Given the description of an element on the screen output the (x, y) to click on. 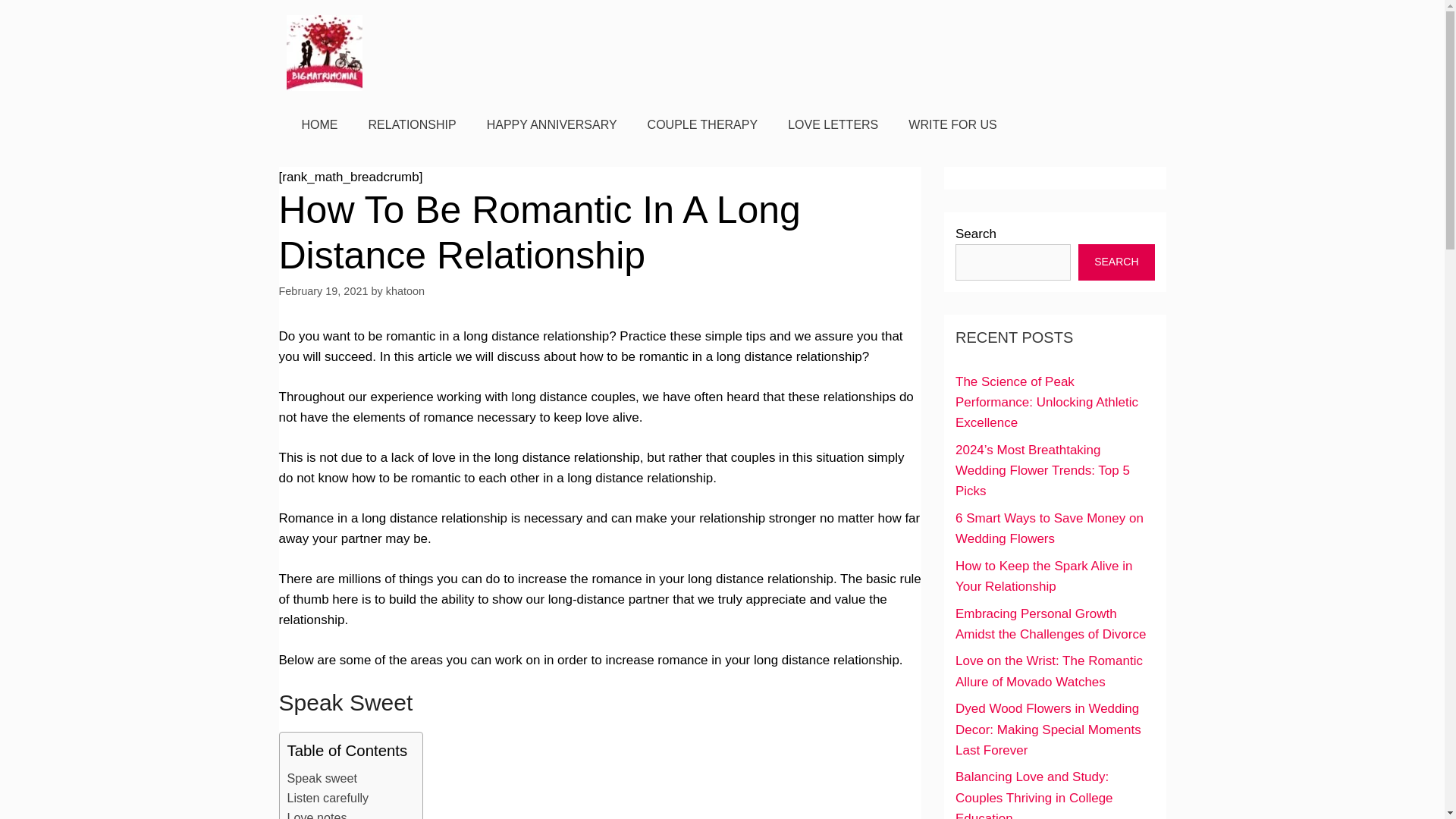
WRITE FOR US (952, 125)
RELATIONSHIP (412, 125)
Embracing Personal Growth Amidst the Challenges of Divorce (1050, 623)
Listen carefully (327, 798)
LOVE LETTERS (833, 125)
6 Smart Ways to Save Money on Wedding Flowers (1048, 528)
COUPLE THERAPY (702, 125)
Love notes (316, 813)
